Given the description of an element on the screen output the (x, y) to click on. 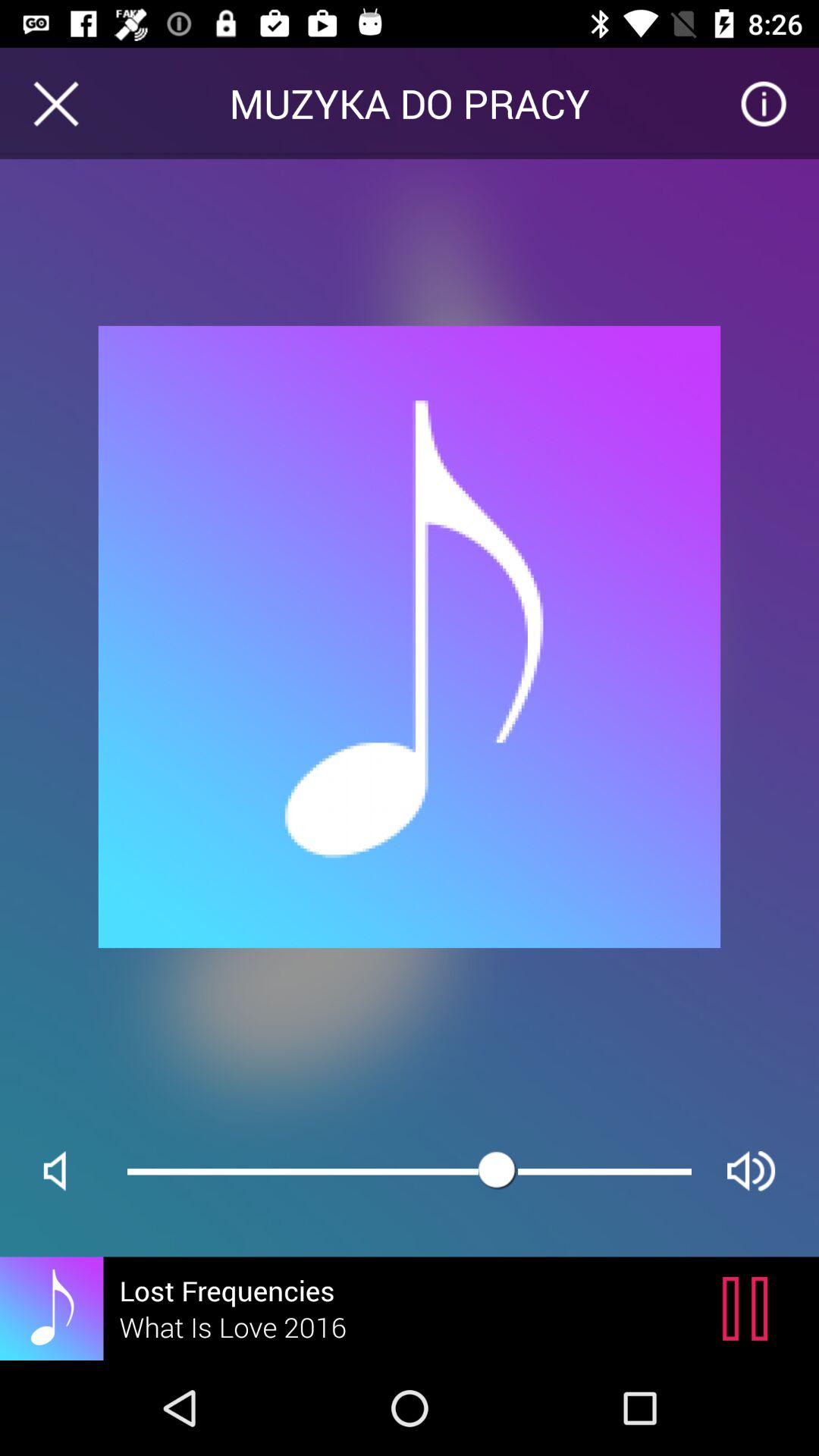
turn on icon to the right of lost frequencies (749, 1308)
